Given the description of an element on the screen output the (x, y) to click on. 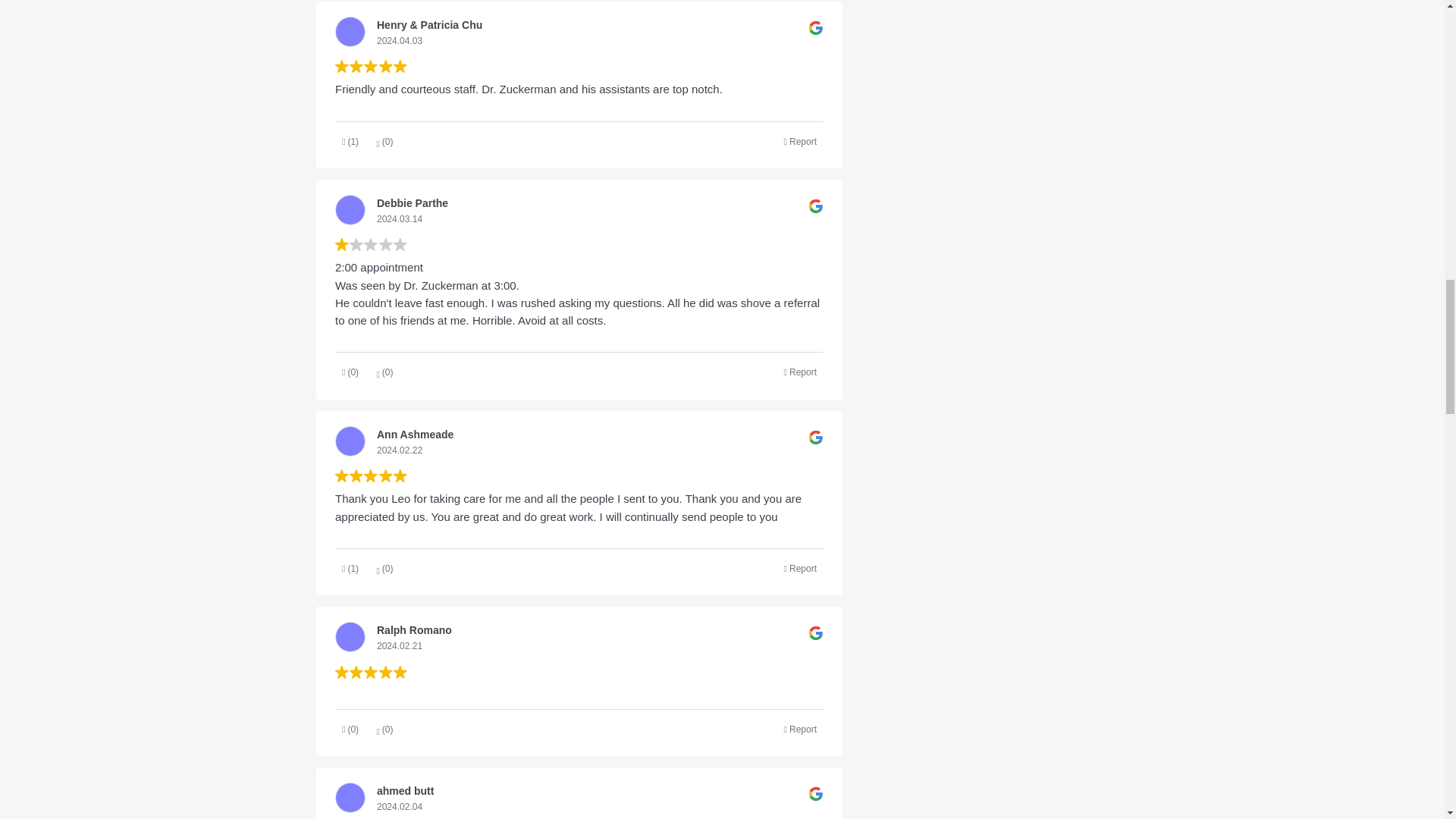
Report (800, 372)
Report (800, 141)
Report (800, 568)
